Given the description of an element on the screen output the (x, y) to click on. 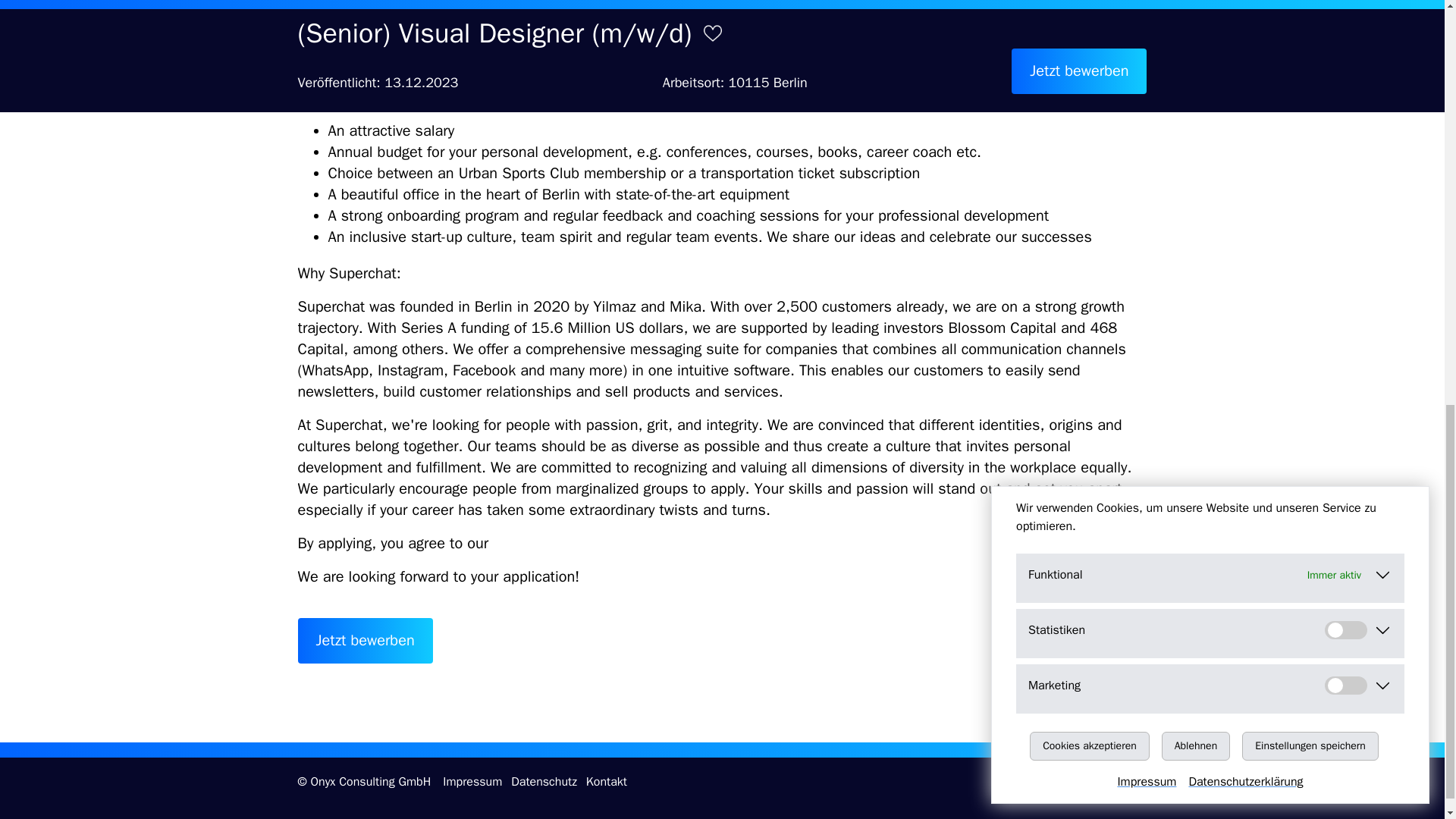
Kontakt (606, 781)
Jetzt bewerben (364, 640)
Datenschutz (543, 781)
Impressum (472, 781)
